Given the description of an element on the screen output the (x, y) to click on. 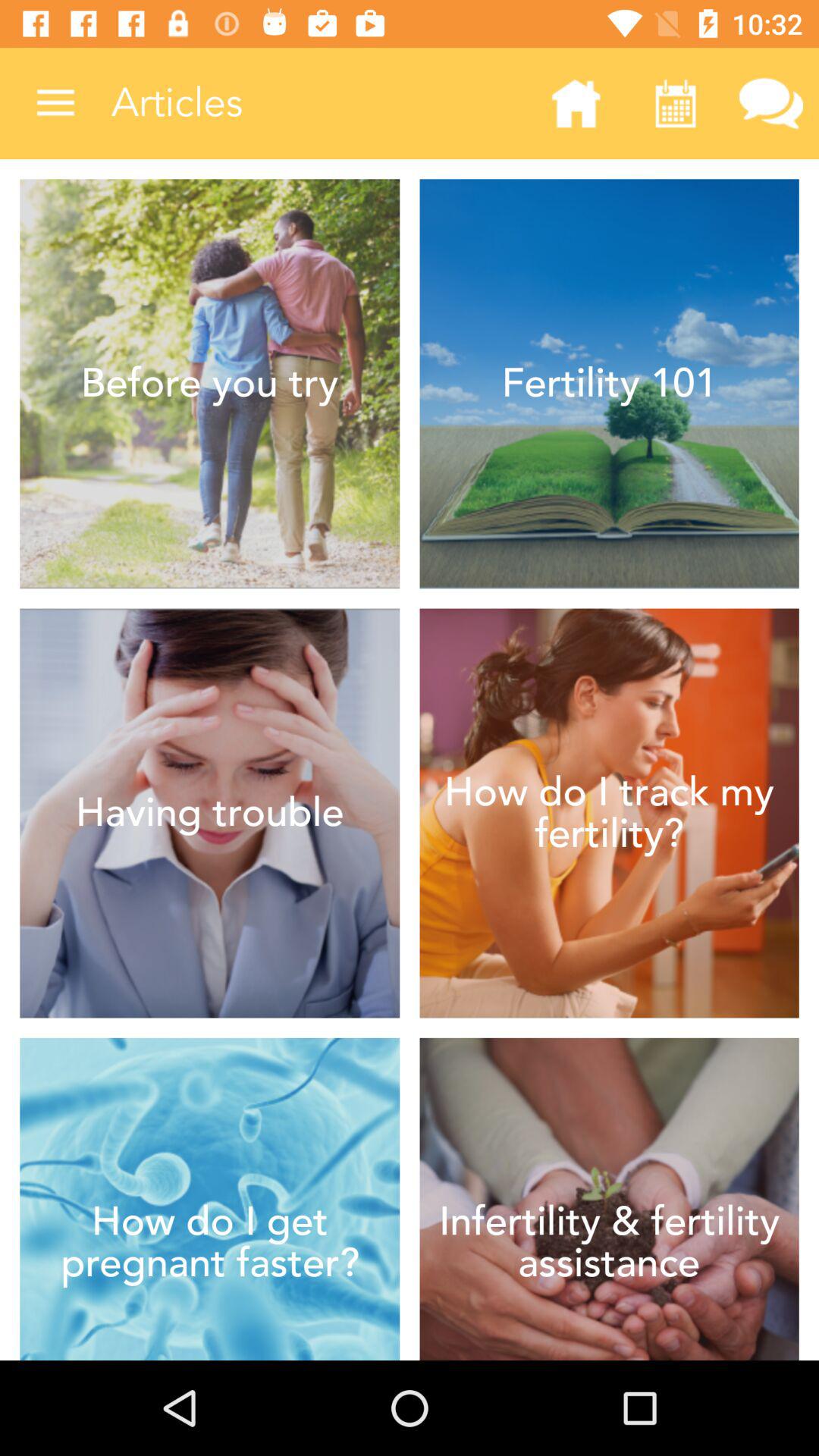
launch the icon next to the articles item (575, 103)
